Given the description of an element on the screen output the (x, y) to click on. 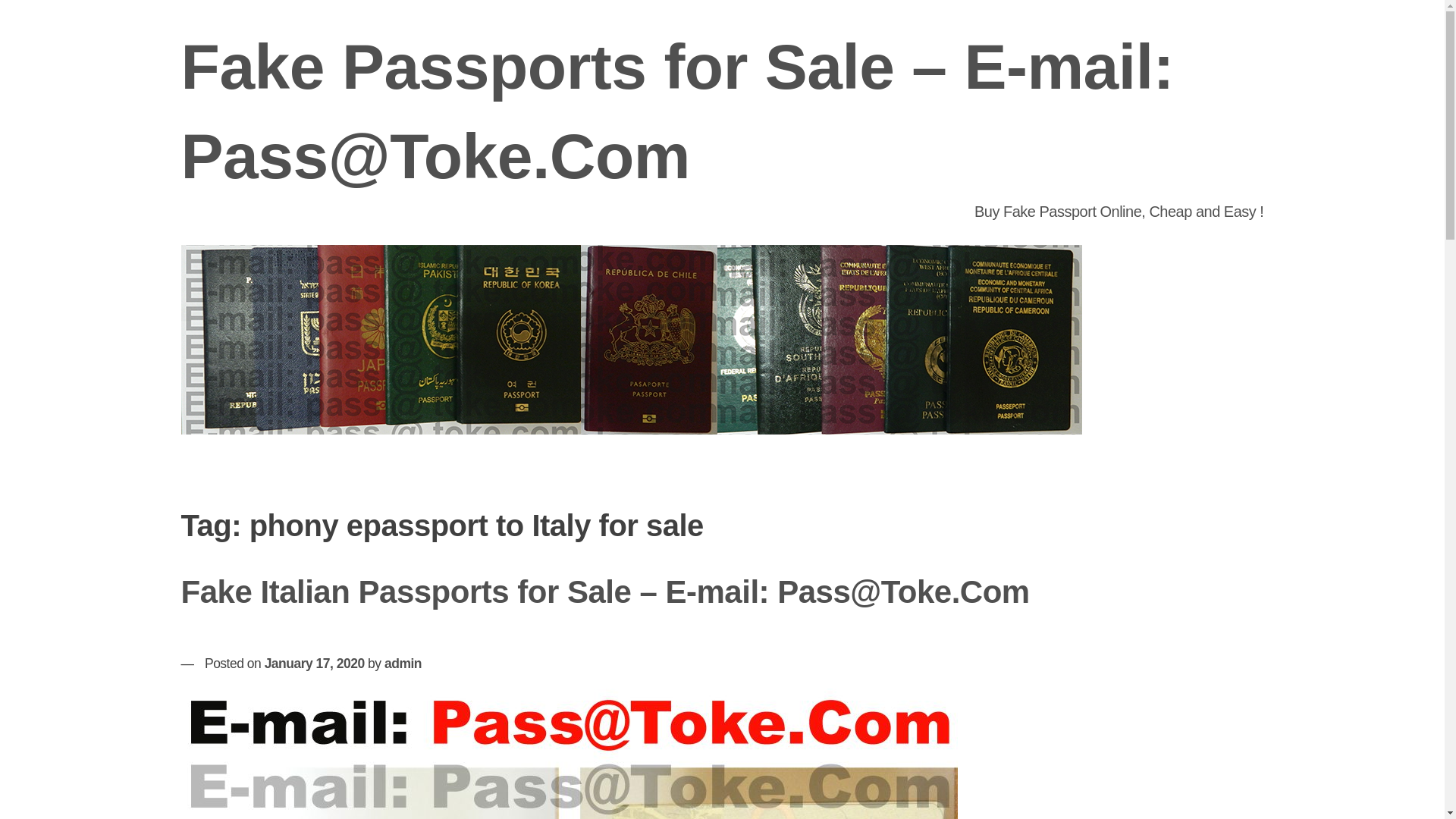
Fake Italian Passports for Sale (569, 753)
January 17, 2020 (314, 663)
admin (403, 663)
